Given the description of an element on the screen output the (x, y) to click on. 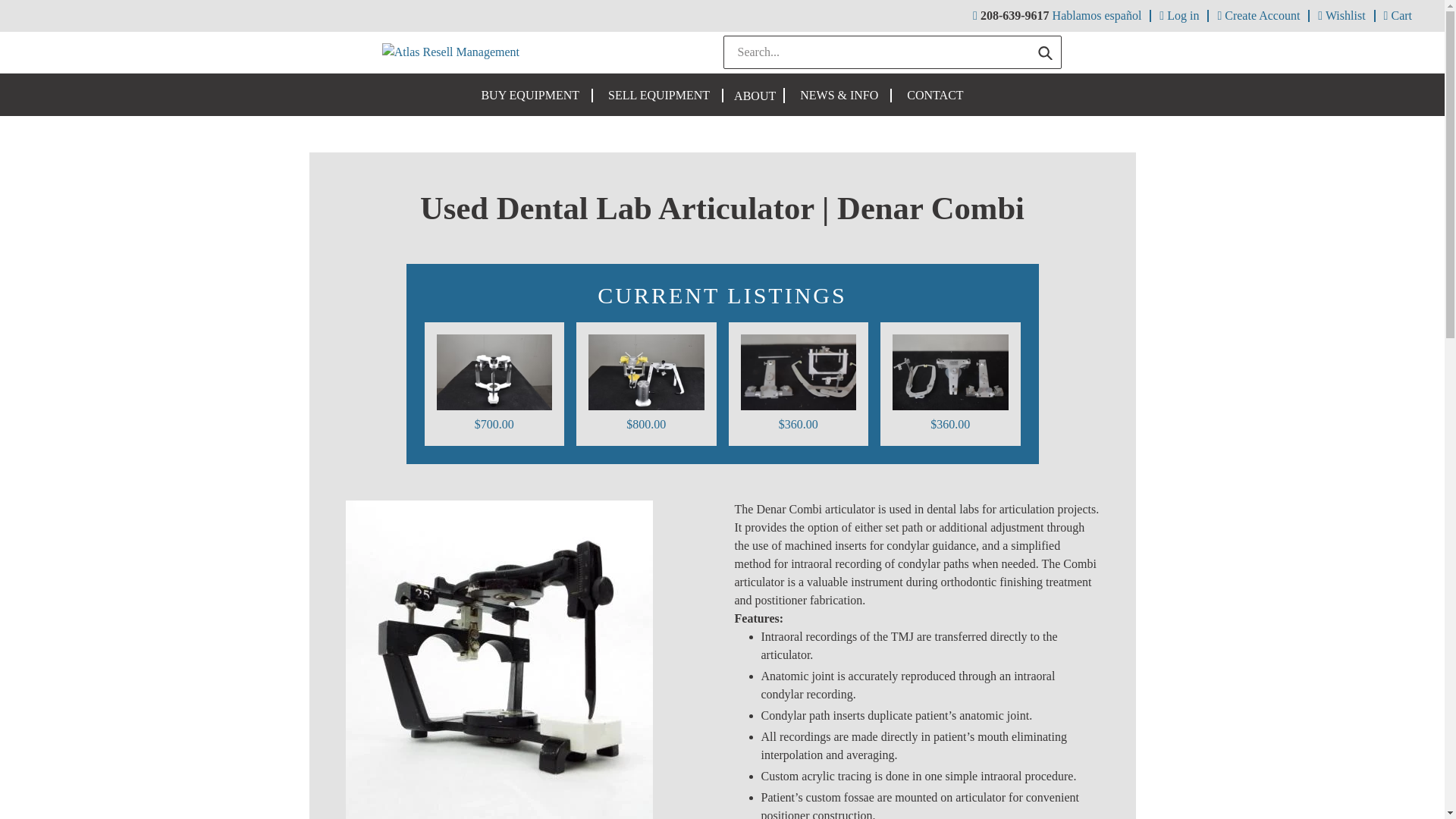
Submit (1045, 52)
CONTACT (935, 95)
SELL EQUIPMENT (658, 95)
Log in (1179, 15)
Cart (1398, 15)
ABOUT (754, 97)
Create Account (1257, 15)
Wishlist (1340, 15)
BUY EQUIPMENT (529, 95)
